Given the description of an element on the screen output the (x, y) to click on. 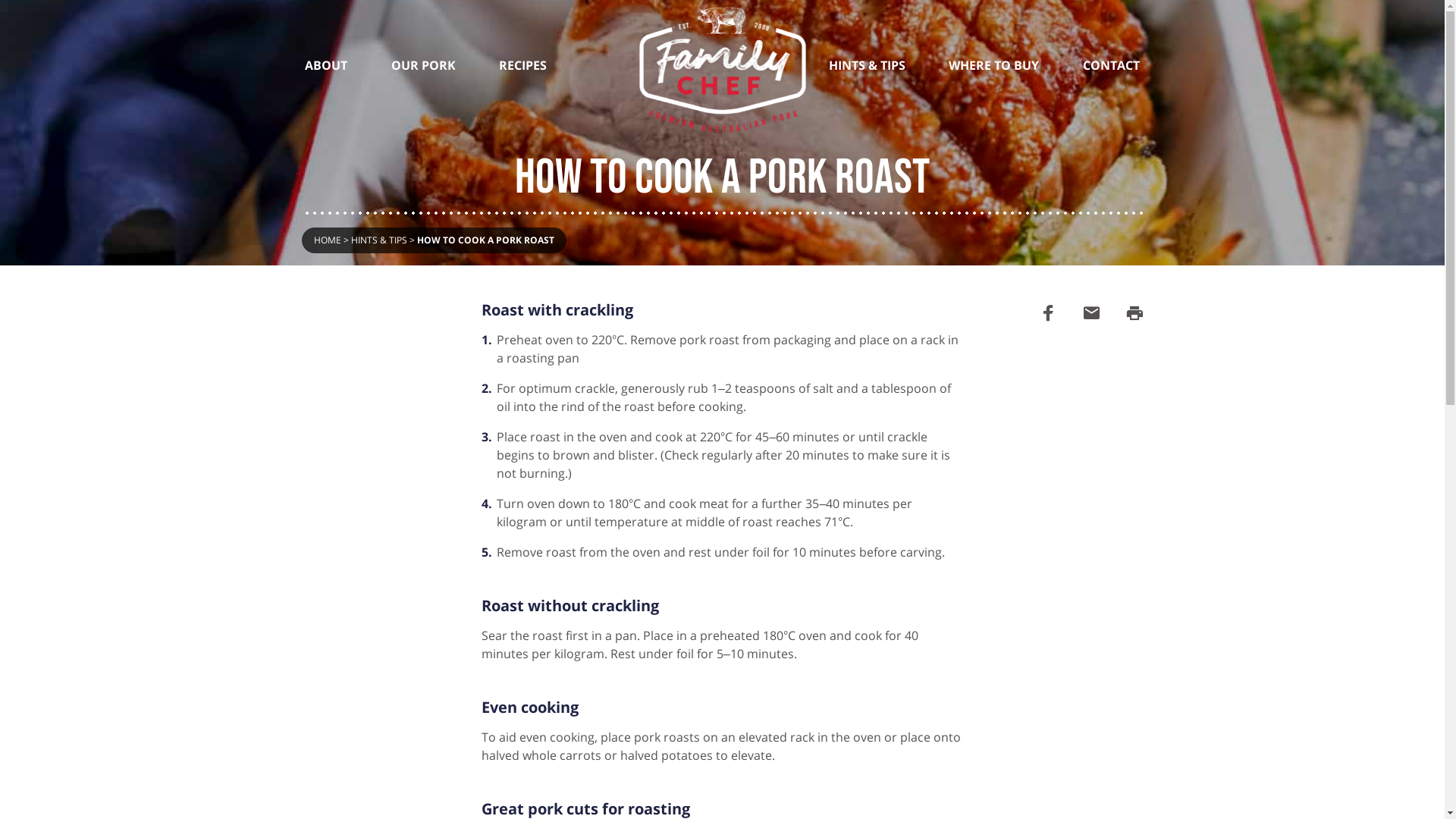
OUR PORK Element type: text (423, 39)
Share article to Facebook Element type: text (1048, 313)
CONTACT Element type: text (1110, 39)
HINTS & TIPS Element type: text (866, 39)
WHERE TO BUY Element type: text (993, 39)
RECIPES Element type: text (523, 39)
Share article via email Element type: text (1090, 313)
Print this article Element type: text (1134, 313)
HINTS & TIPS Element type: text (378, 239)
HOME Element type: text (327, 239)
Skip to content Element type: text (1443, 0)
ABOUT Element type: text (326, 39)
